Given the description of an element on the screen output the (x, y) to click on. 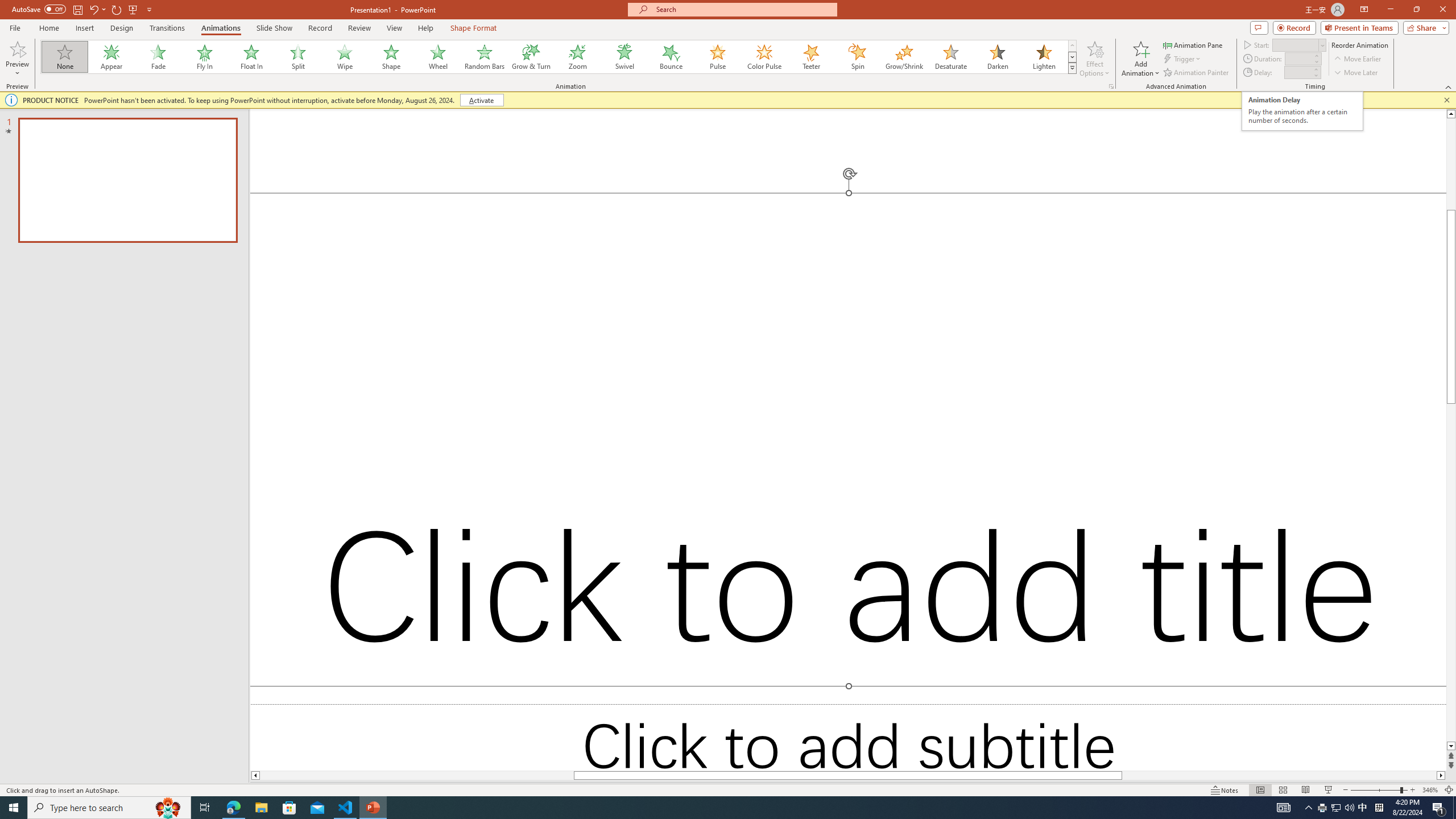
Shape (391, 56)
Zoom 346% (1430, 790)
Split (298, 56)
Add Animation (1141, 58)
Trigger (1182, 58)
Fly In (205, 56)
Grow & Turn (531, 56)
Random Bars (484, 56)
